Given the description of an element on the screen output the (x, y) to click on. 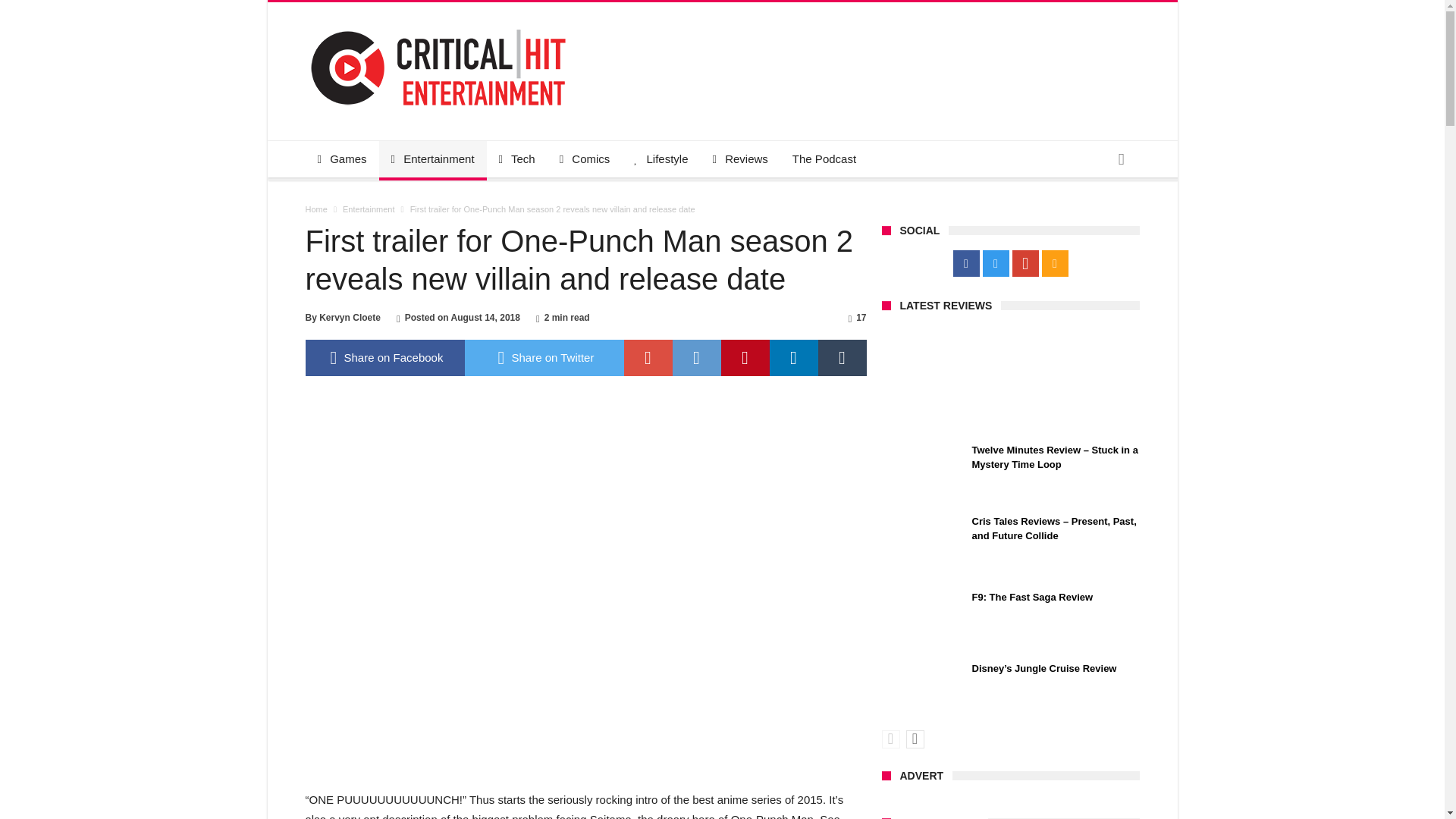
Lifestyle (660, 158)
Kervyn Cloete (349, 317)
Games (341, 158)
Reviews (740, 158)
17 (861, 317)
Critical Hit (437, 24)
google (647, 357)
twitter (543, 357)
facebook (384, 357)
reddit (695, 357)
